Given the description of an element on the screen output the (x, y) to click on. 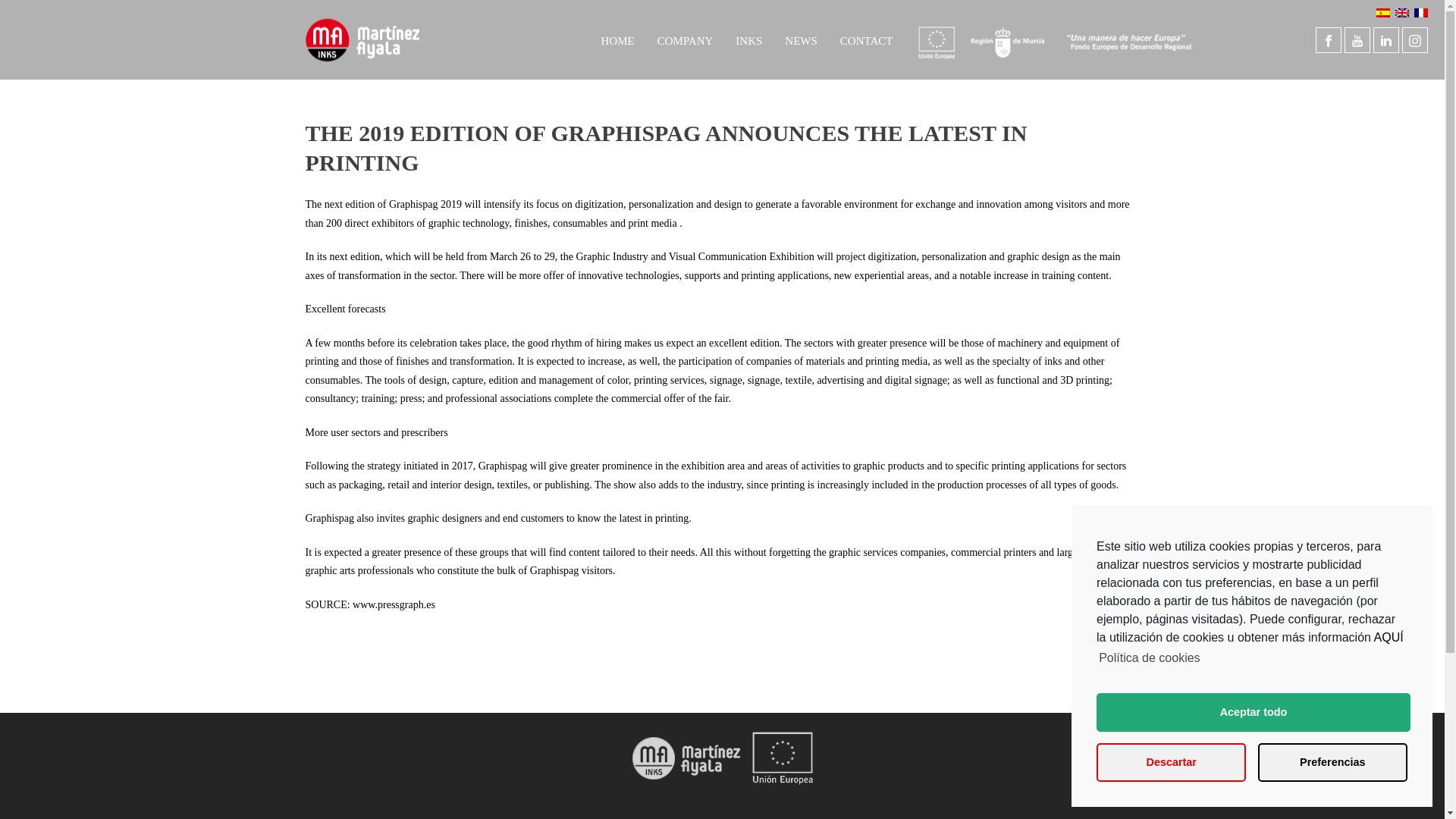
CONTACT (866, 39)
CONTACT (866, 39)
COMPANY (685, 39)
Aceptar todo (1253, 712)
COMPANY (685, 39)
